Given the description of an element on the screen output the (x, y) to click on. 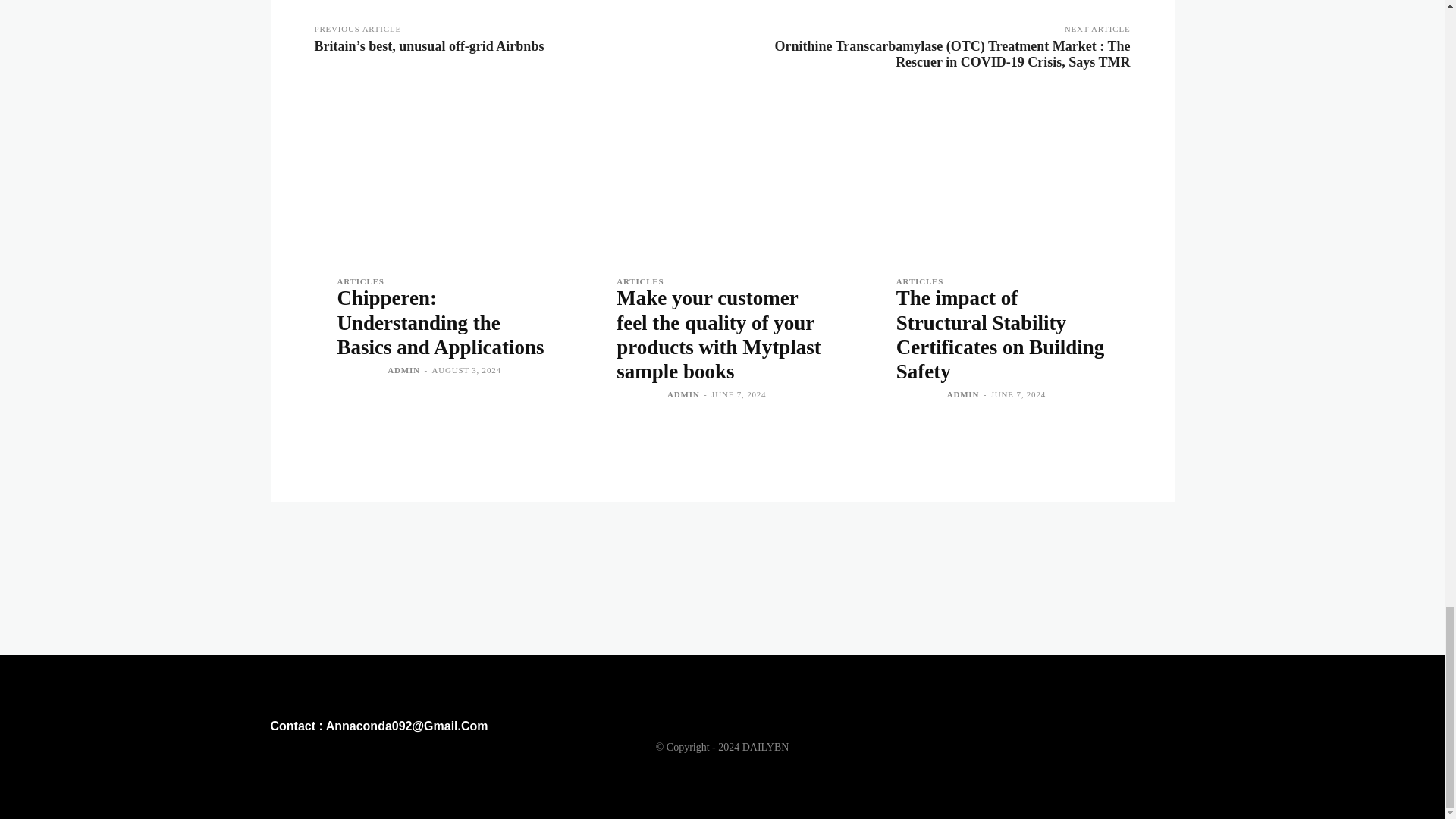
Chipperen: Understanding the Basics and Applications (442, 177)
Chipperen: Understanding the Basics and Applications (439, 322)
